Given the description of an element on the screen output the (x, y) to click on. 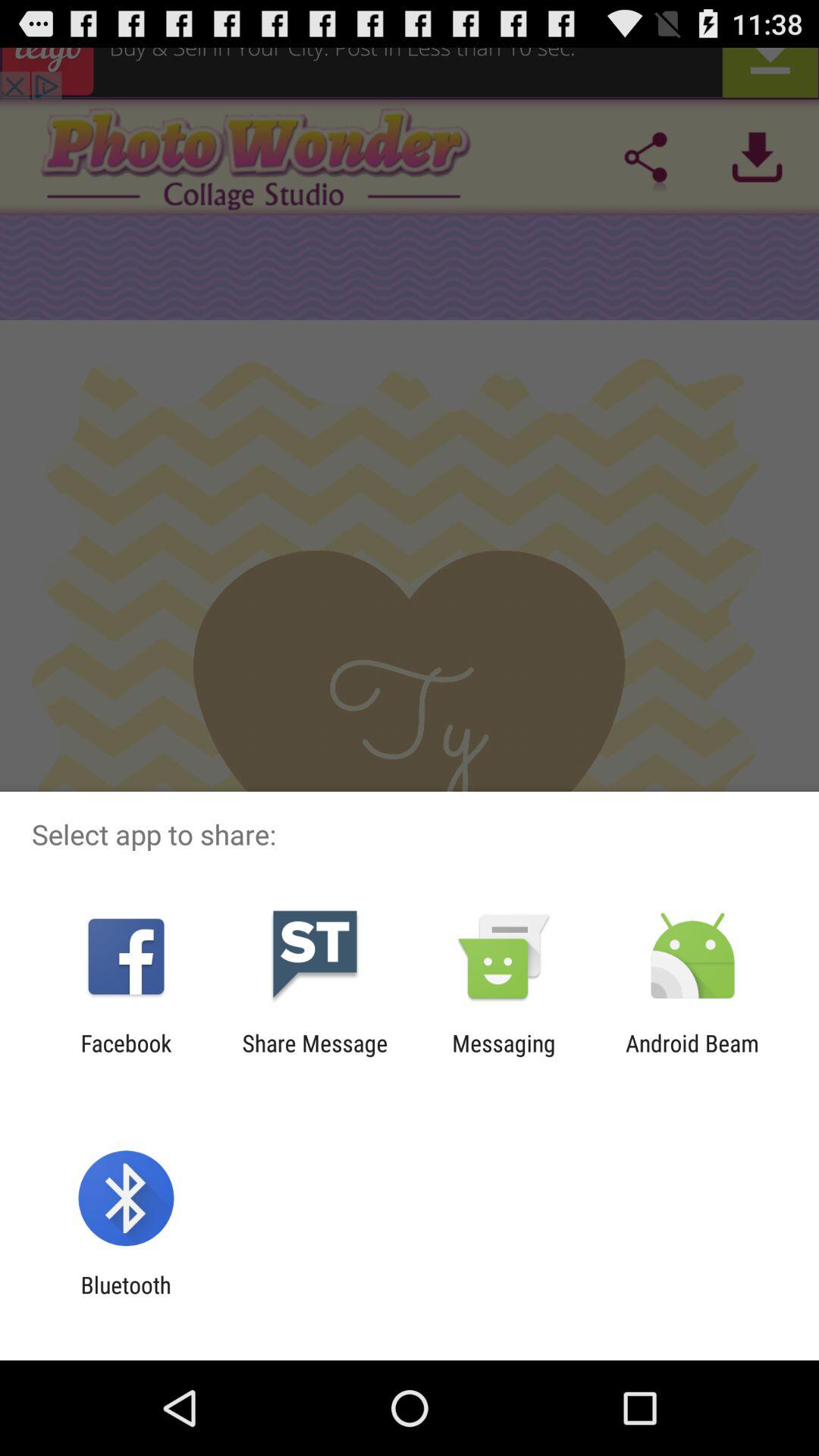
press the android beam at the bottom right corner (692, 1056)
